Given the description of an element on the screen output the (x, y) to click on. 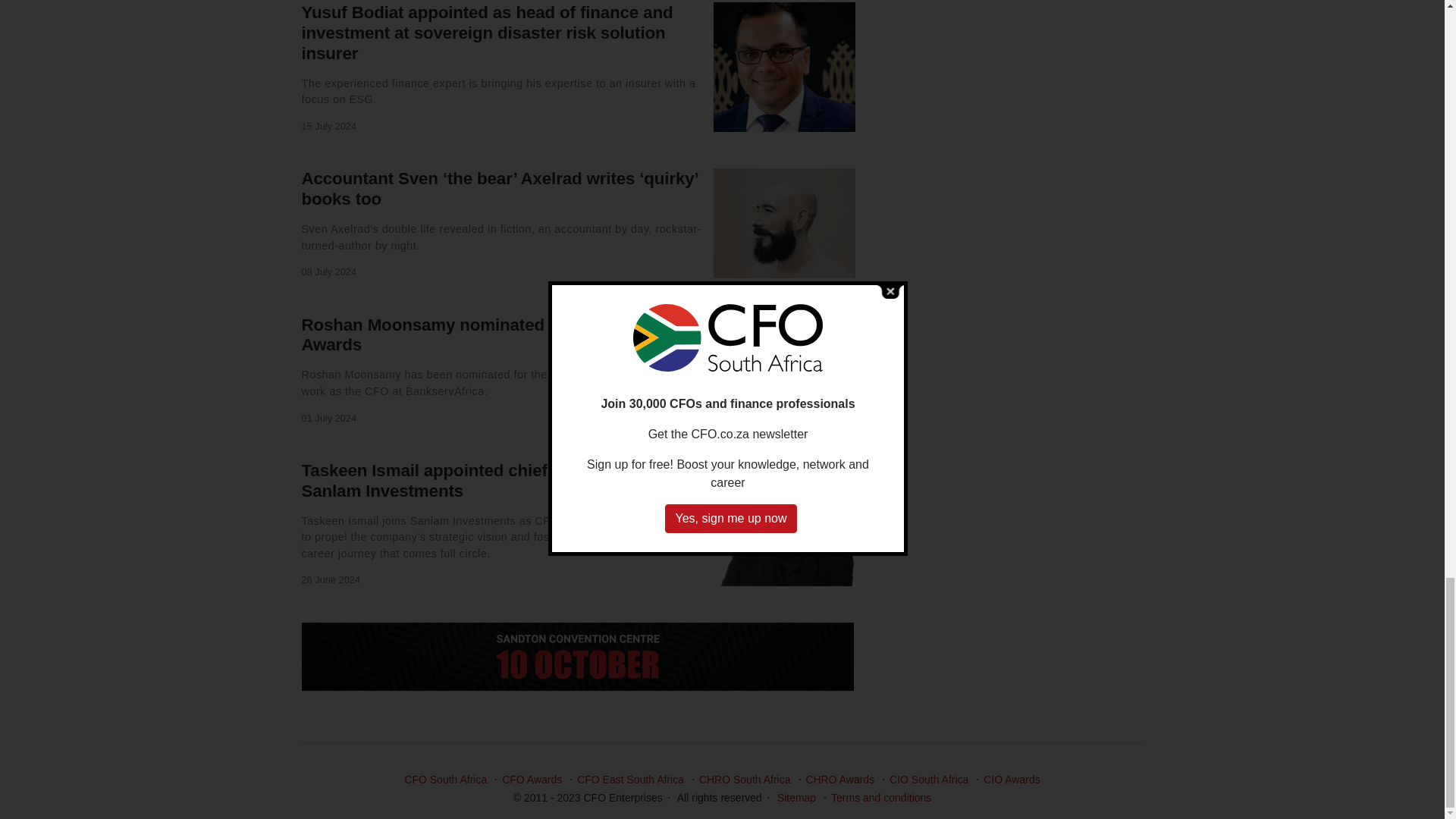
Roshan Moonsamy nominated for 2024 CFO Awards (477, 333)
